Given the description of an element on the screen output the (x, y) to click on. 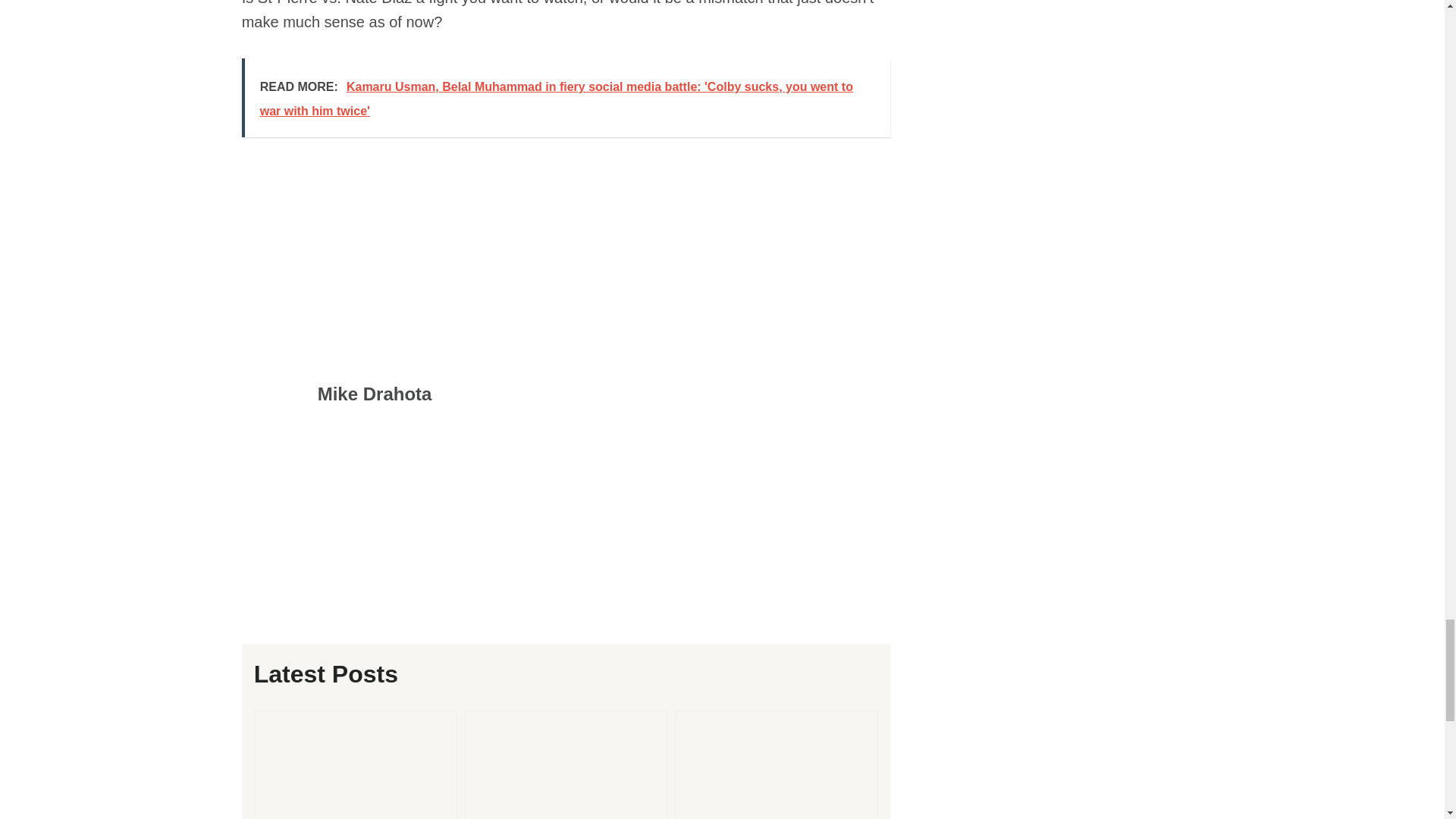
Posts by Mike Drahota (374, 394)
Anthony Smith vs. Dominick Reyes Booked for UFC 310 5 (776, 765)
